Given the description of an element on the screen output the (x, y) to click on. 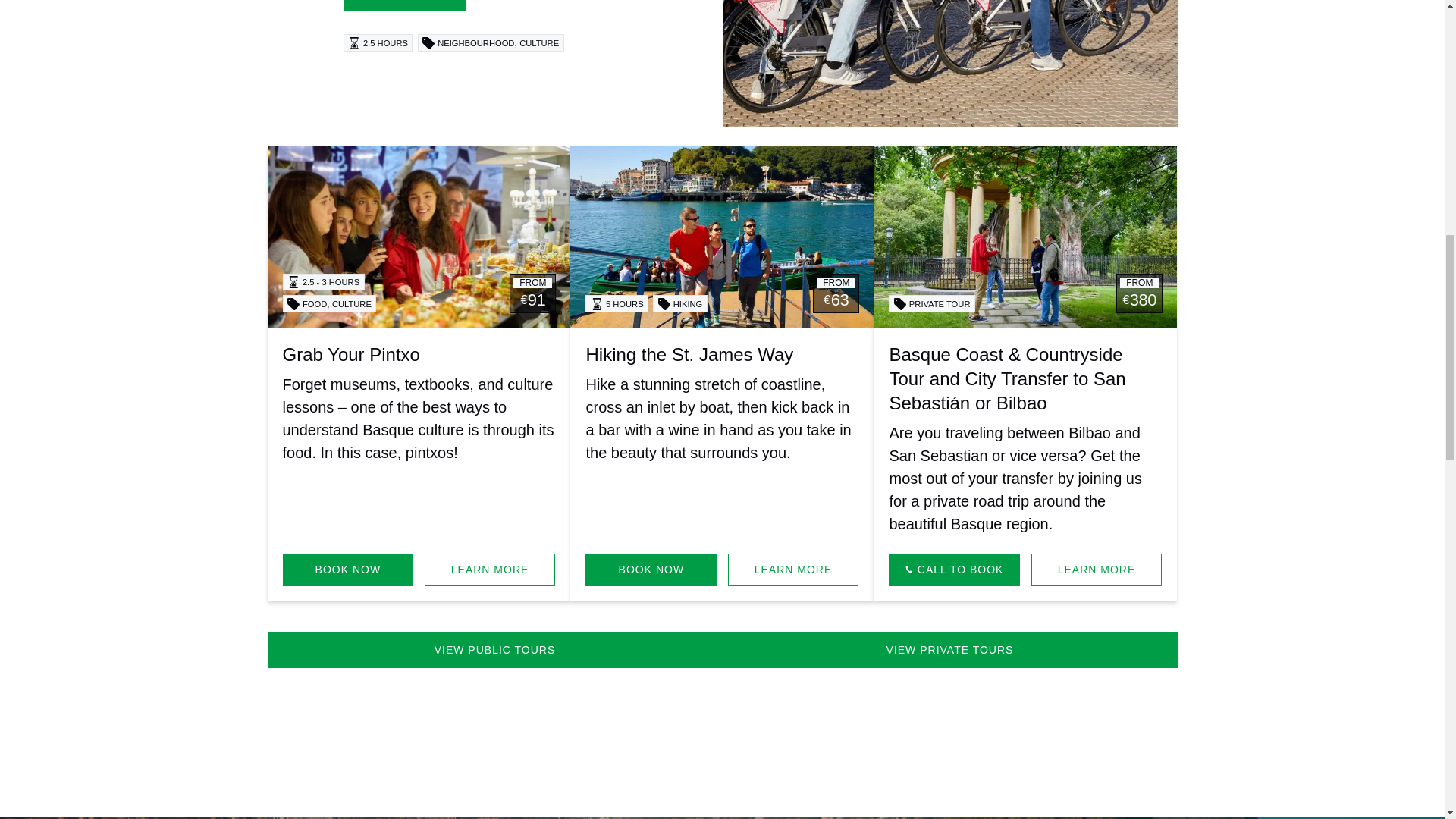
activity link (1024, 236)
VIEW PRIVATE TOURS (949, 649)
activity link (721, 236)
LEARN MORE (1095, 570)
Grab Your Pintxo (350, 353)
BOOK NOW (347, 570)
VIEW PUBLIC TOURS (494, 649)
CALL TO BOOK (954, 570)
LEARN MORE (490, 570)
Hiking the St. James Way (689, 353)
BOOK NOW (650, 570)
activity link (418, 236)
LEARN MORE (793, 570)
